Given the description of an element on the screen output the (x, y) to click on. 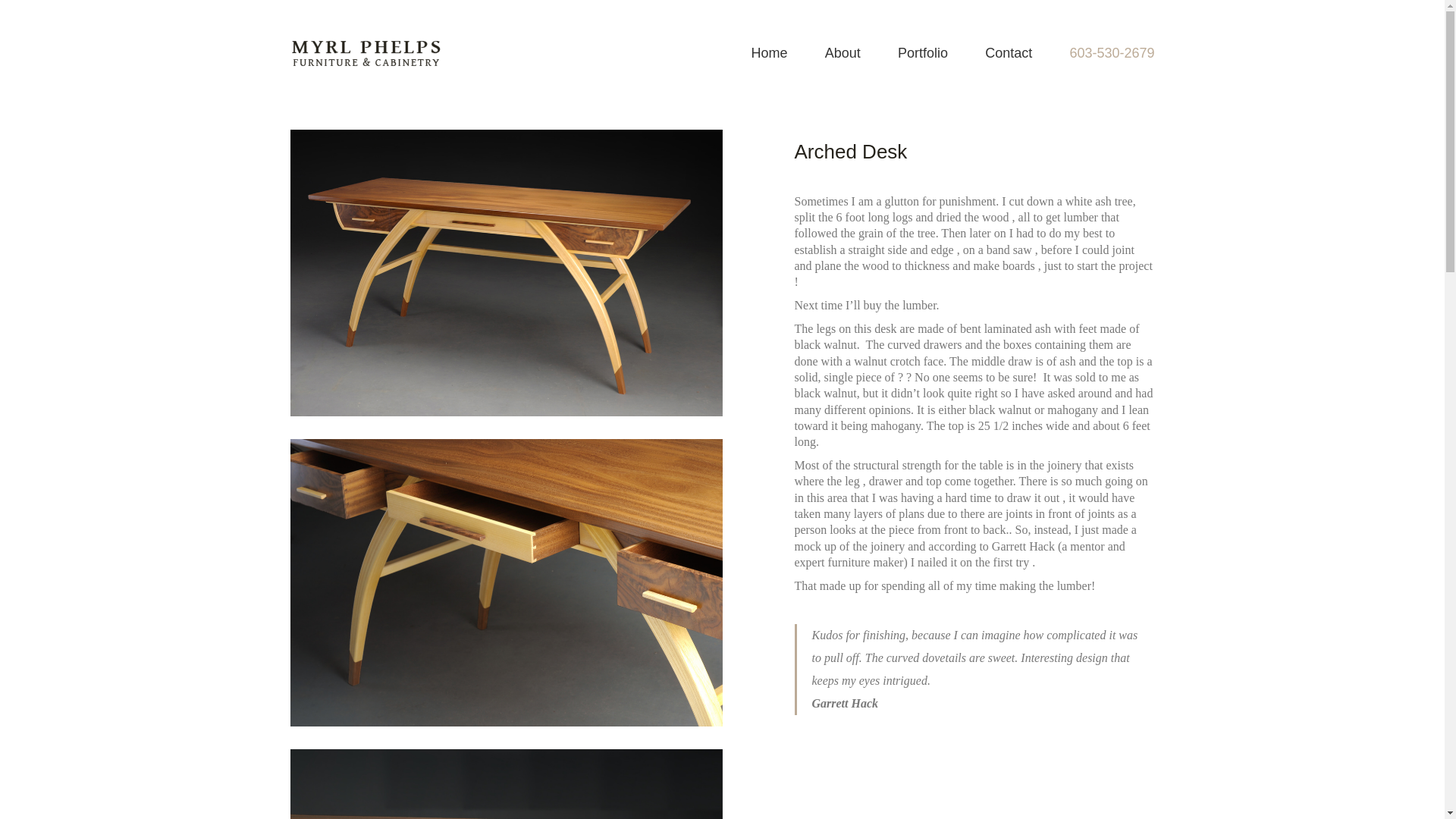
About (842, 53)
Portfolio (922, 53)
Contact (1008, 53)
Home (769, 53)
603-530-2679 (1111, 53)
